Given the description of an element on the screen output the (x, y) to click on. 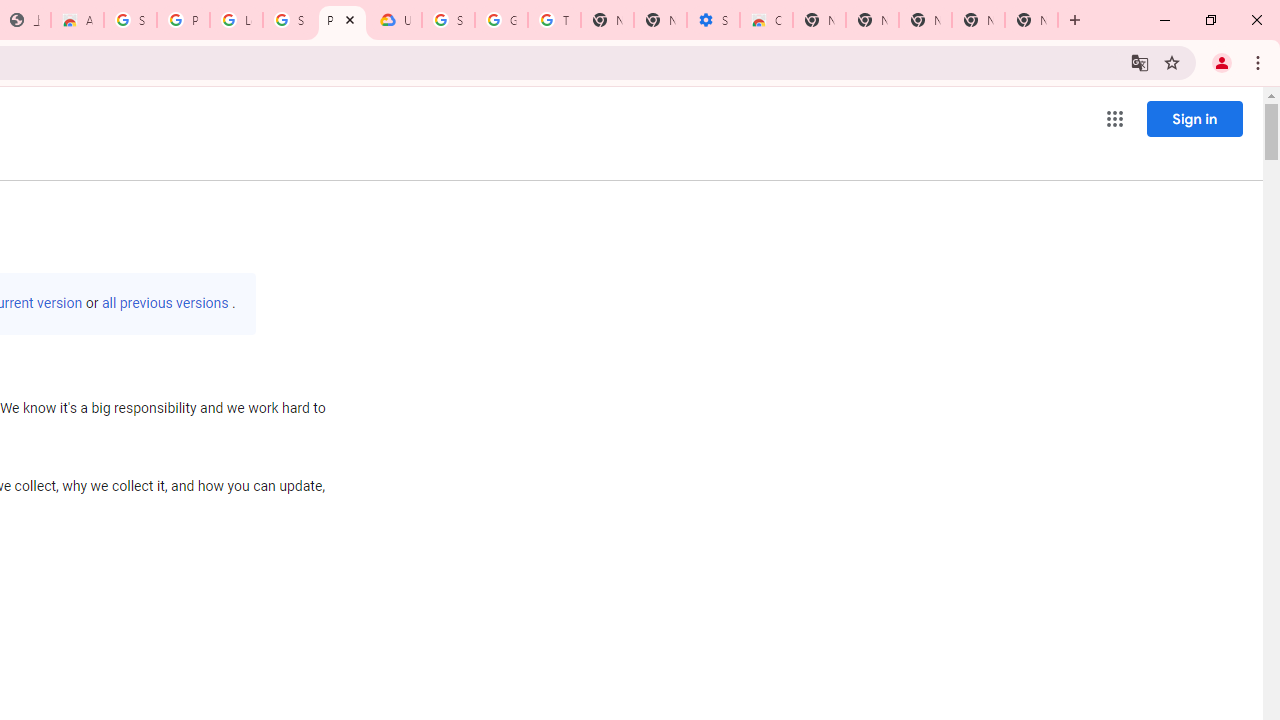
Sign in - Google Accounts (289, 20)
Sign in - Google Accounts (448, 20)
Turn cookies on or off - Computer - Google Account Help (554, 20)
New Tab (1031, 20)
Translate this page (1139, 62)
Chrome Web Store - Accessibility extensions (766, 20)
Sign in - Google Accounts (130, 20)
all previous versions (165, 303)
Settings - Accessibility (713, 20)
